Given the description of an element on the screen output the (x, y) to click on. 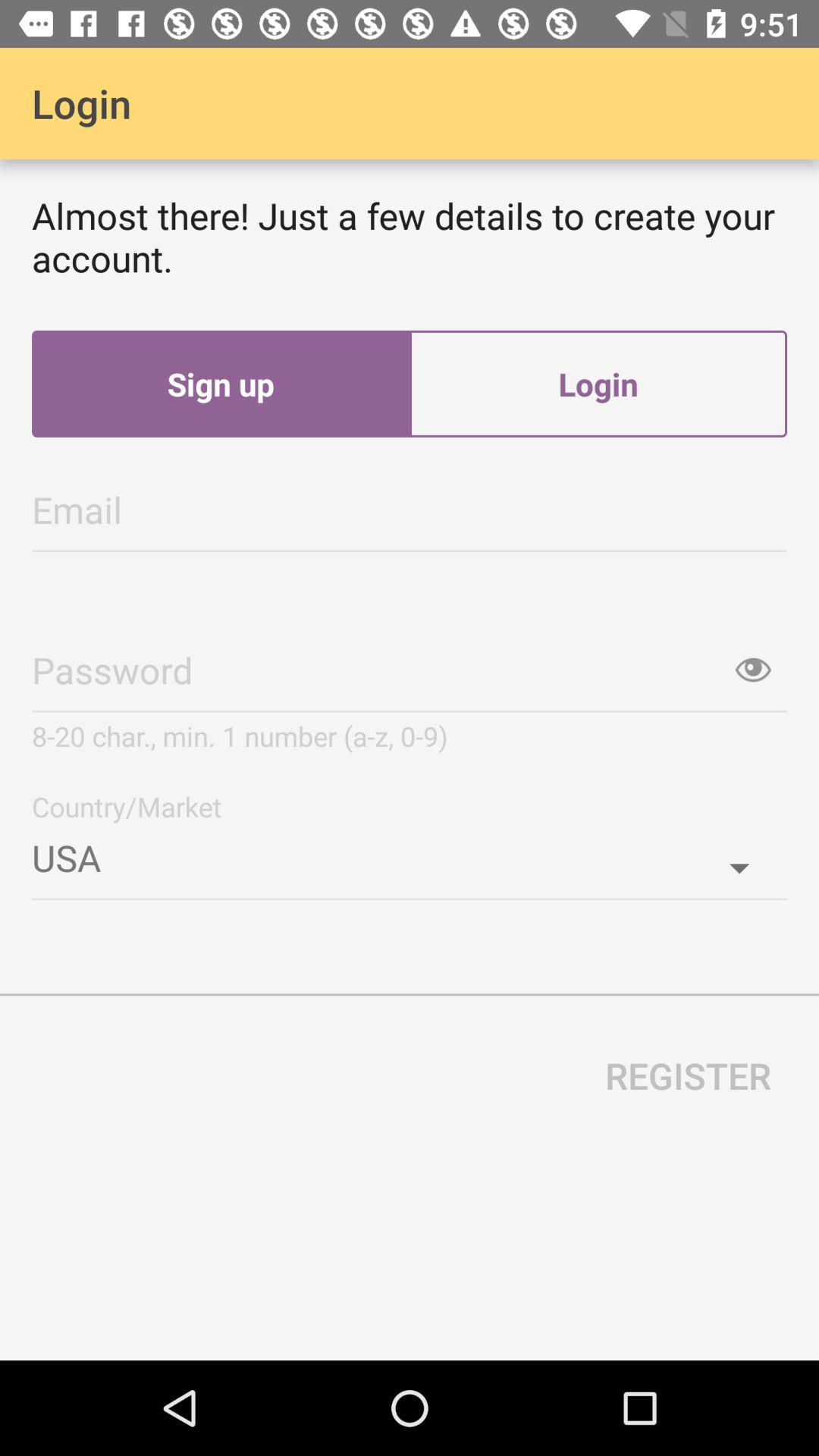
turn on the sign up item (220, 383)
